Given the description of an element on the screen output the (x, y) to click on. 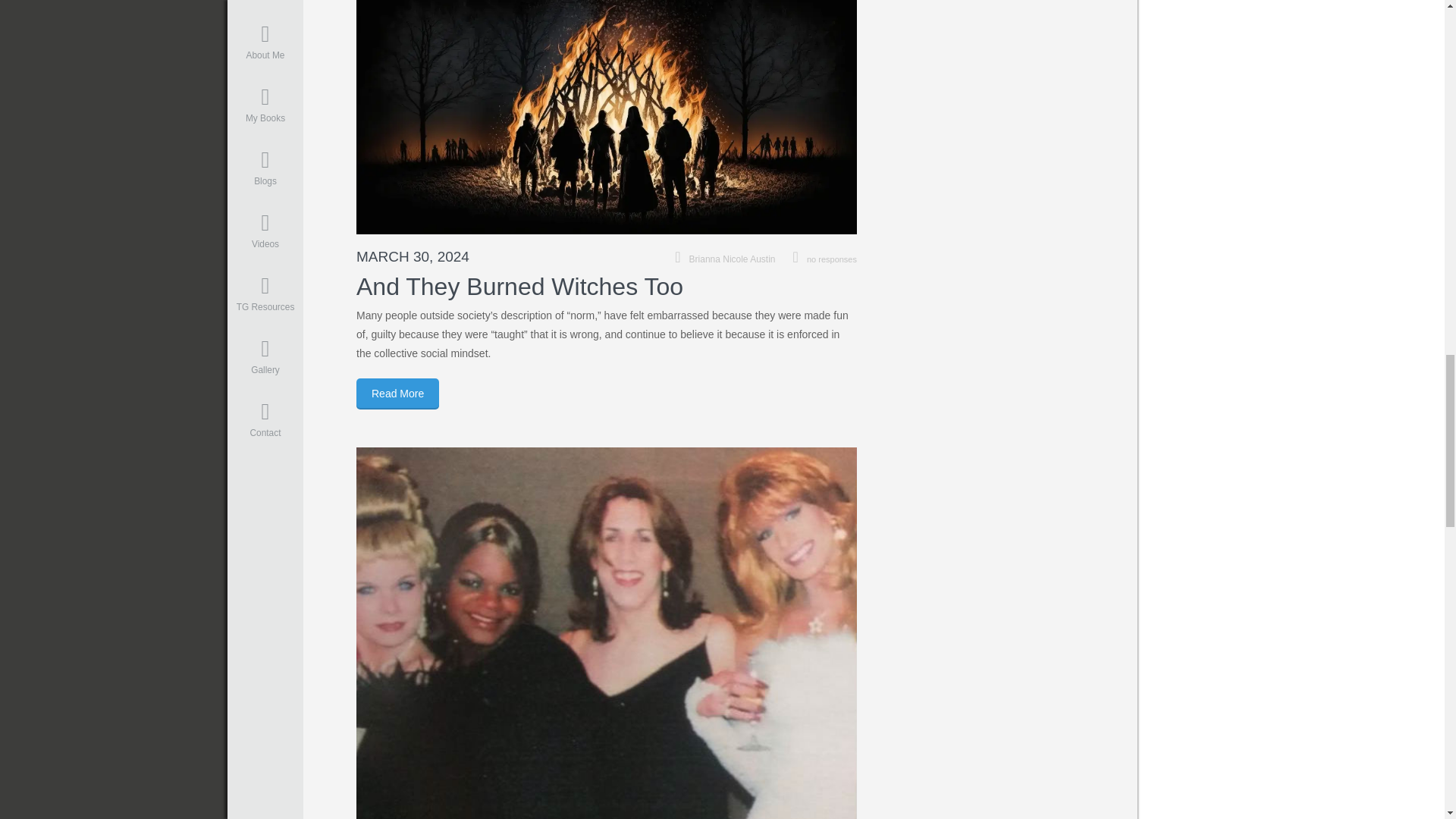
Read More (397, 393)
Brianna Nicole Austin (732, 258)
And They Burned Witches Too (519, 286)
